Given the description of an element on the screen output the (x, y) to click on. 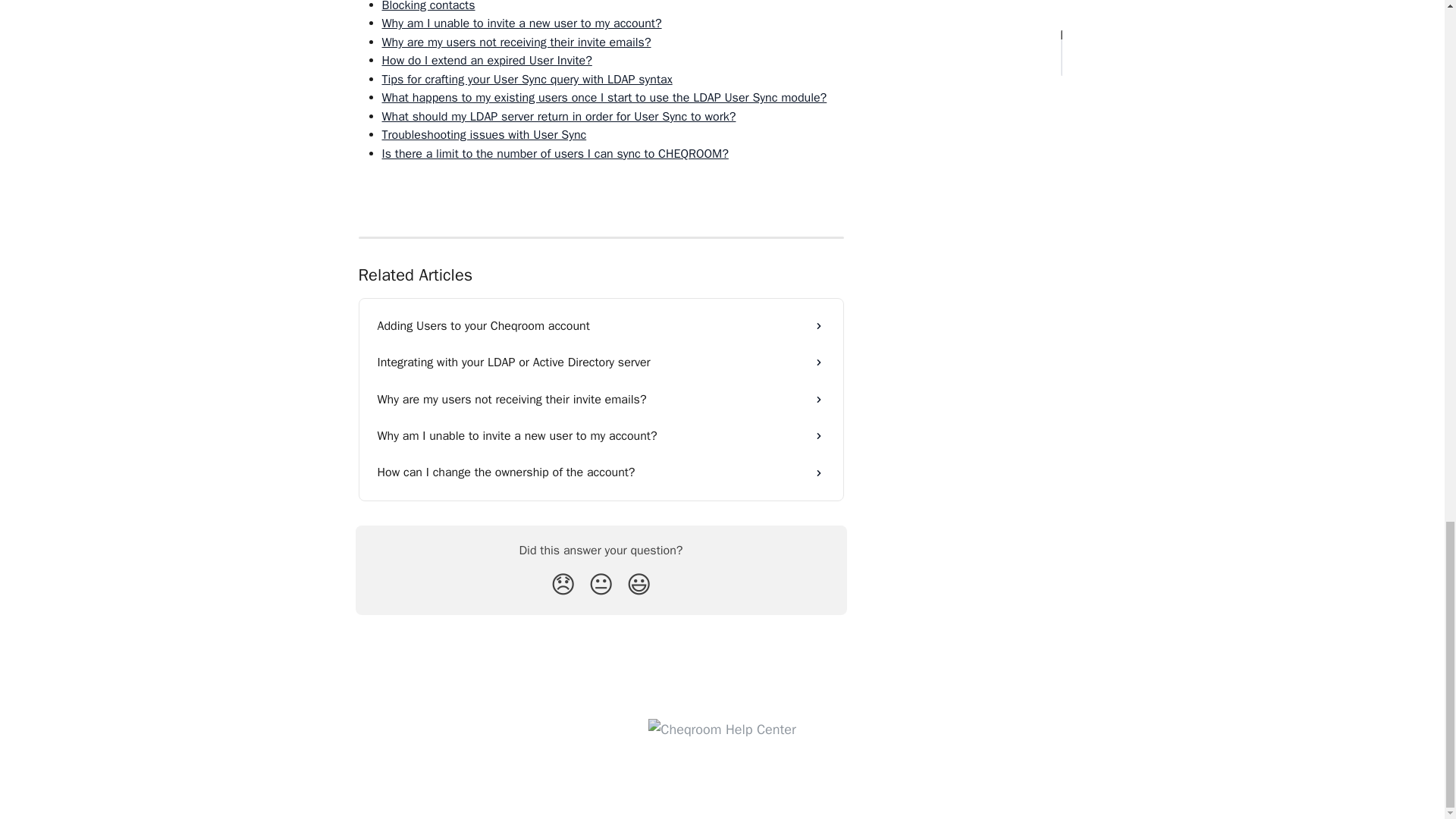
Why are my users not receiving their invite emails? (515, 42)
How can I change the ownership of the account? (601, 472)
Why am I unable to invite a new user to my account? (601, 435)
Tips for crafting your User Sync query with LDAP syntax (526, 79)
Troubleshooting issues with User Sync (483, 134)
Why am I unable to invite a new user to my account? (521, 23)
Adding Users to your Cheqroom account (601, 325)
Why are my users not receiving their invite emails? (601, 399)
Blocking contacts (428, 6)
